Given the description of an element on the screen output the (x, y) to click on. 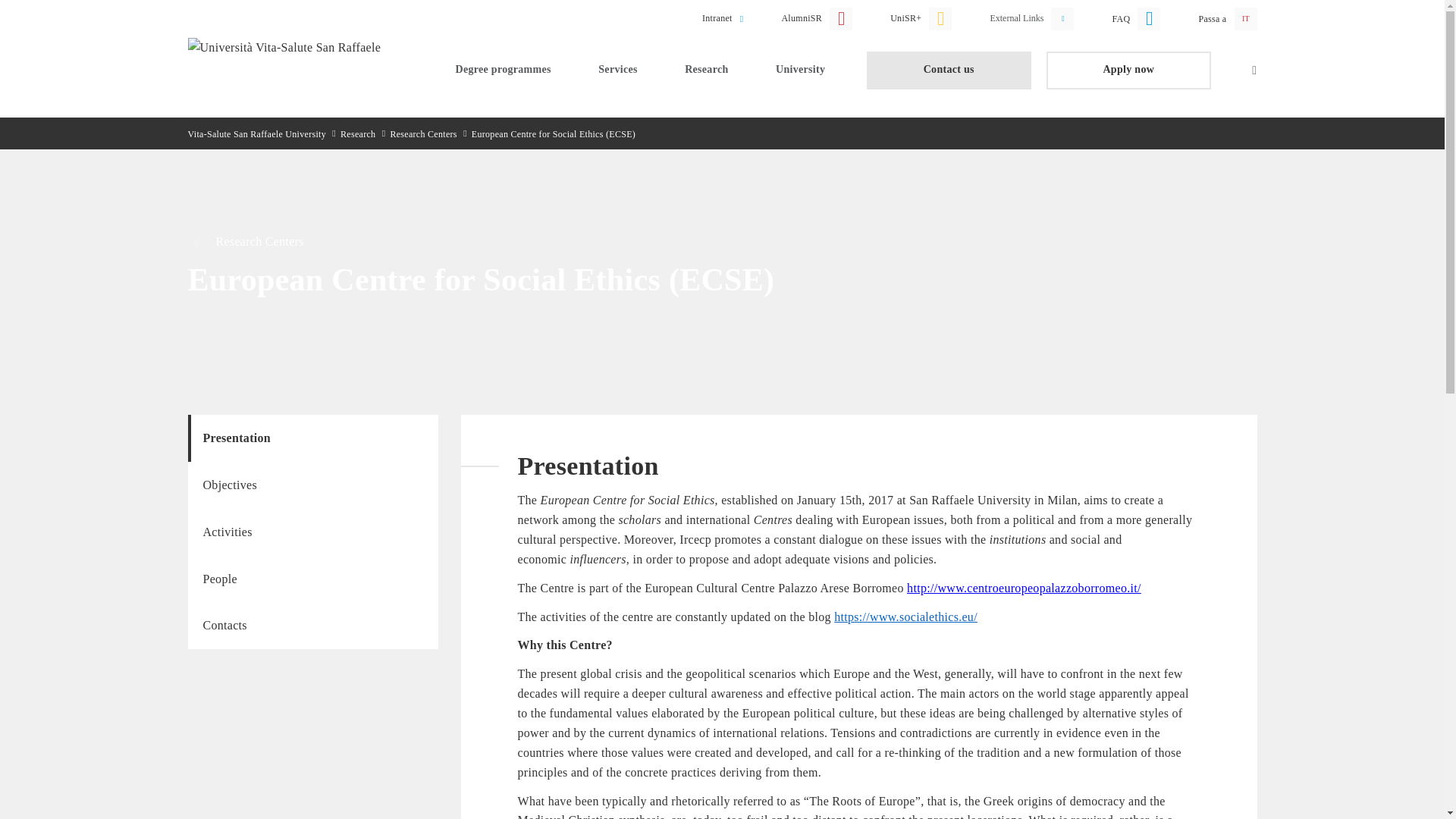
AlumniSR (820, 15)
Degree programmes (502, 69)
Intranet (726, 15)
FAQ (1139, 15)
External Links (1035, 15)
Passa a (1219, 15)
